Given the description of an element on the screen output the (x, y) to click on. 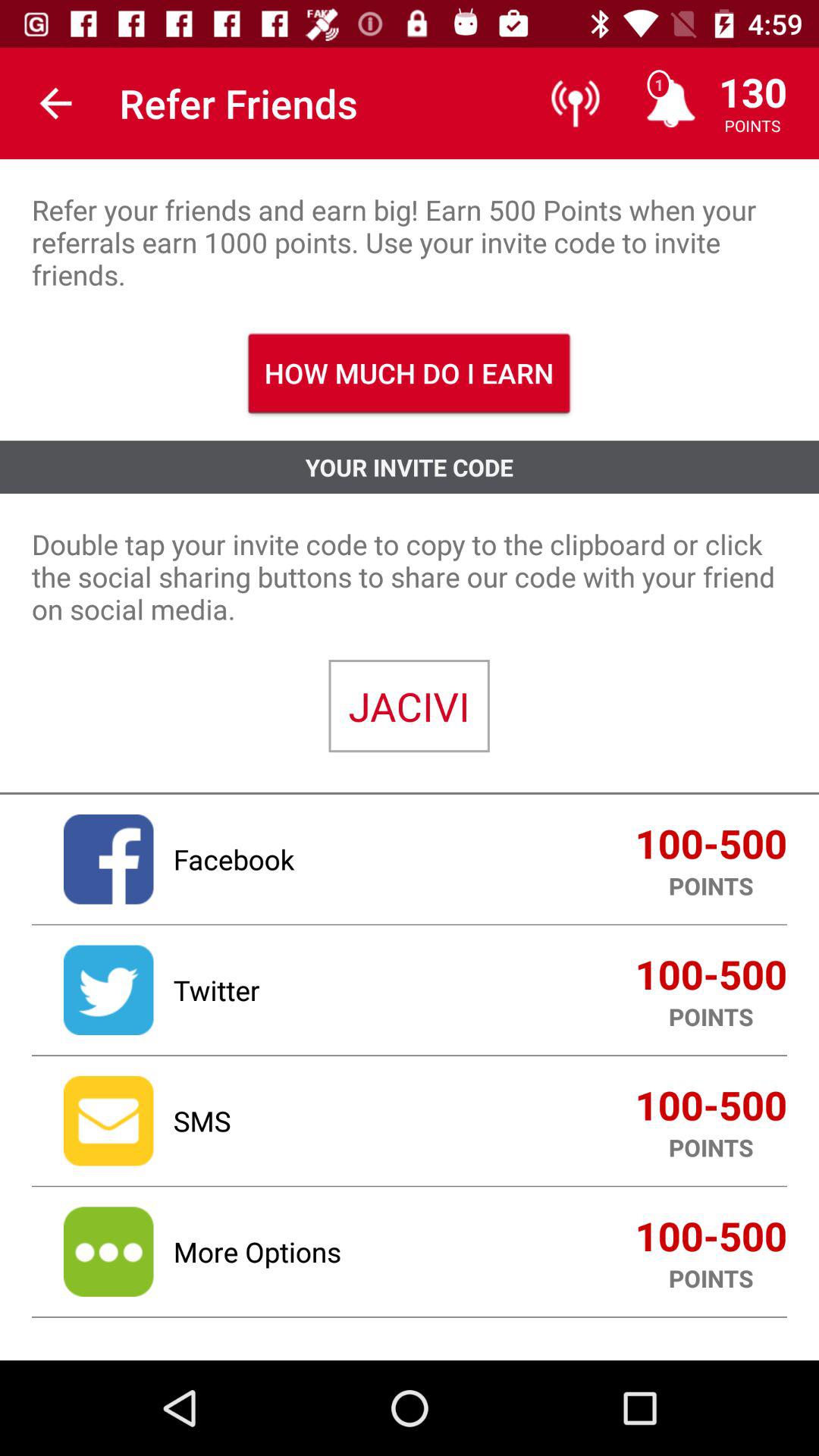
select the item next to refer friends icon (55, 103)
